Given the description of an element on the screen output the (x, y) to click on. 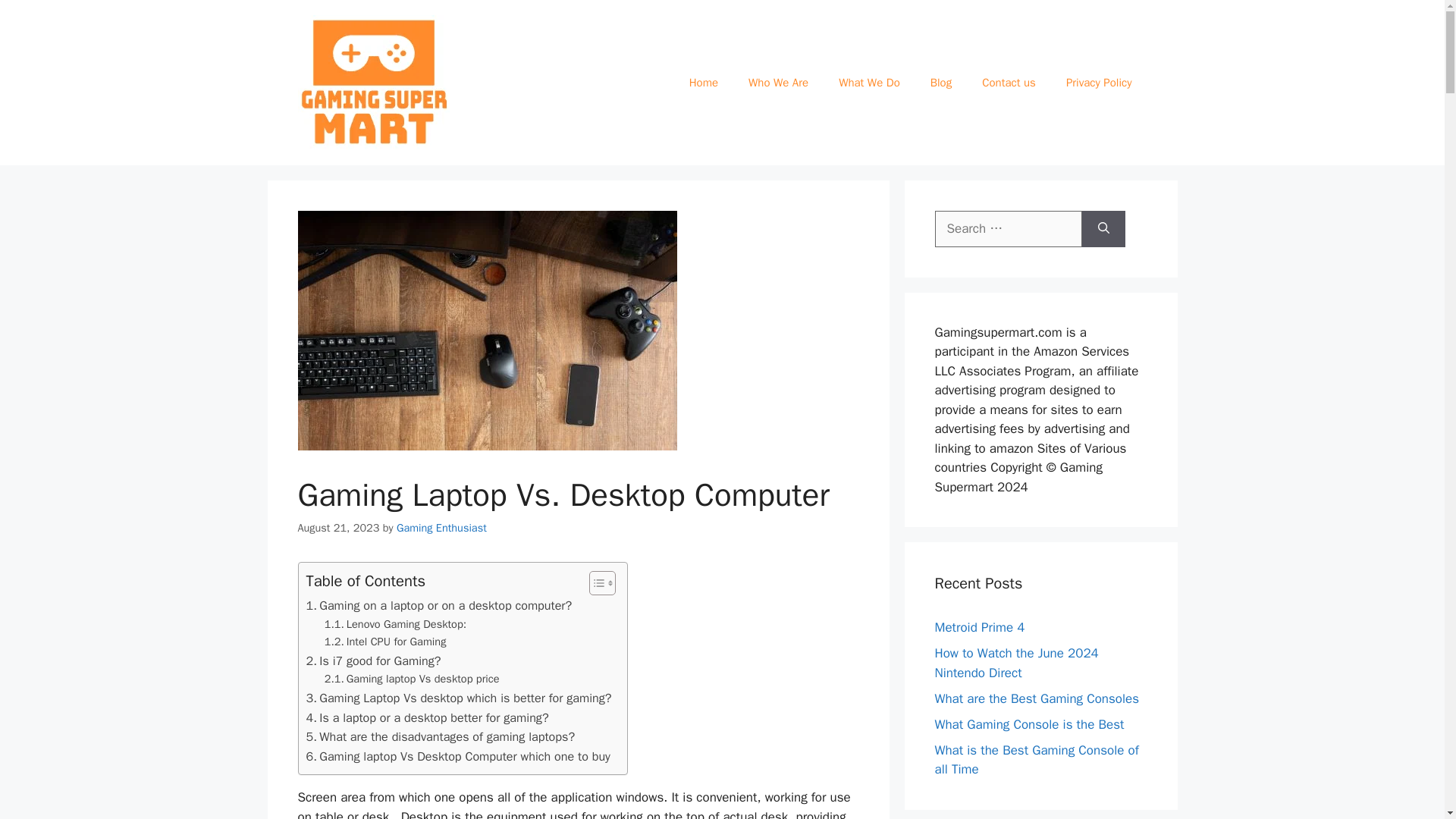
Blog (940, 82)
 Is a laptop or a desktop better for gaming? (426, 718)
Gaming laptop Vs Desktop Computer which one to buy (457, 756)
Is i7 good for Gaming?  (373, 660)
Lenovo Gaming Desktop: (394, 624)
View all posts by Gaming Enthusiast (441, 527)
What are the disadvantages of gaming laptops? (440, 736)
Is a laptop or a desktop better for gaming? (426, 718)
Is i7 good for Gaming? (373, 660)
Privacy Policy (1099, 82)
Lenovo Gaming Desktop: (394, 624)
Gaming Enthusiast (441, 527)
Intel CPU for Gaming (385, 641)
Search for: (1007, 228)
Gaming laptop Vs desktop price (411, 678)
